Given the description of an element on the screen output the (x, y) to click on. 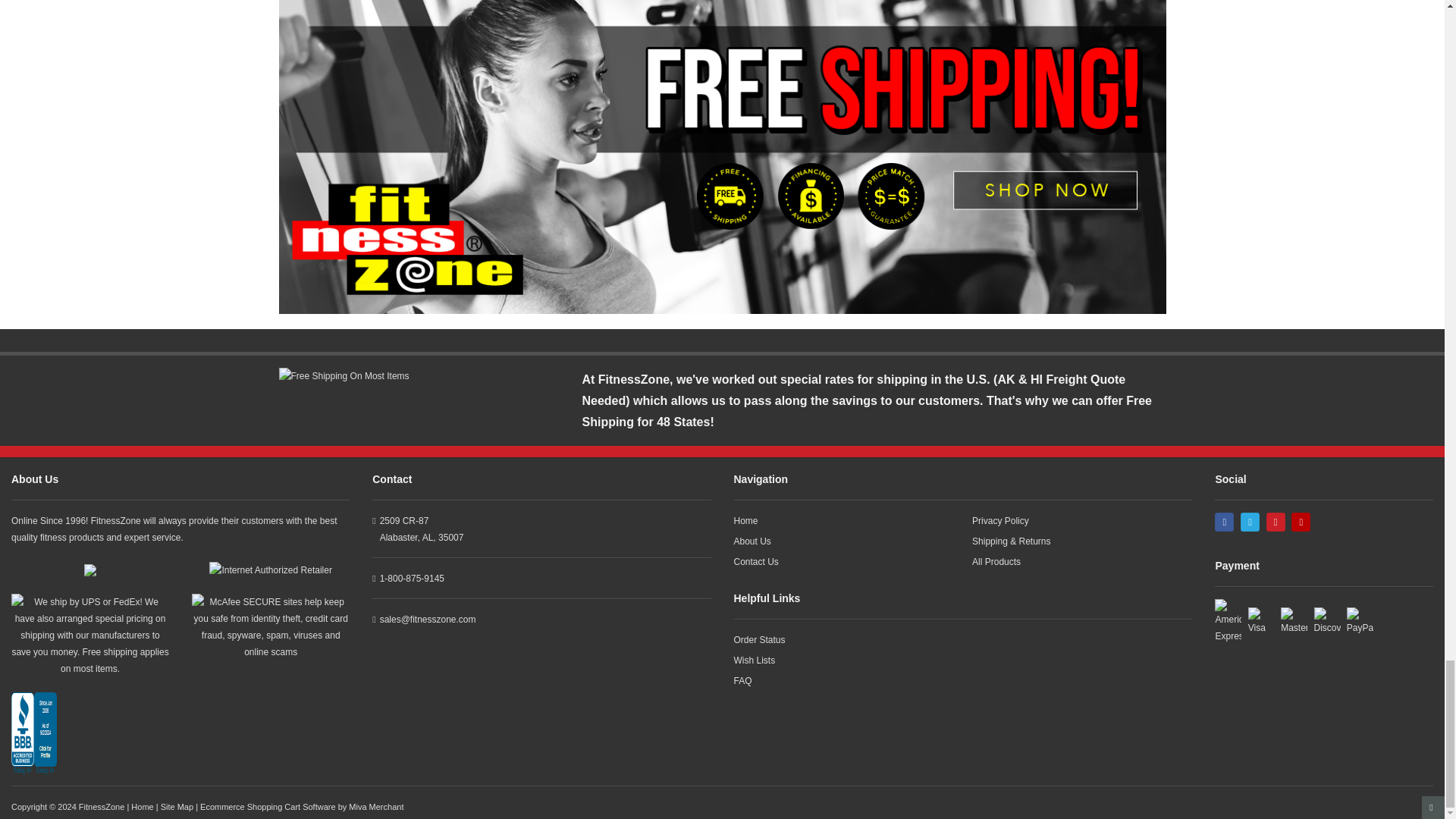
Visa (1261, 621)
Free Shipping On Most Items (419, 375)
Internet Authorized Retailer (270, 569)
